Given the description of an element on the screen output the (x, y) to click on. 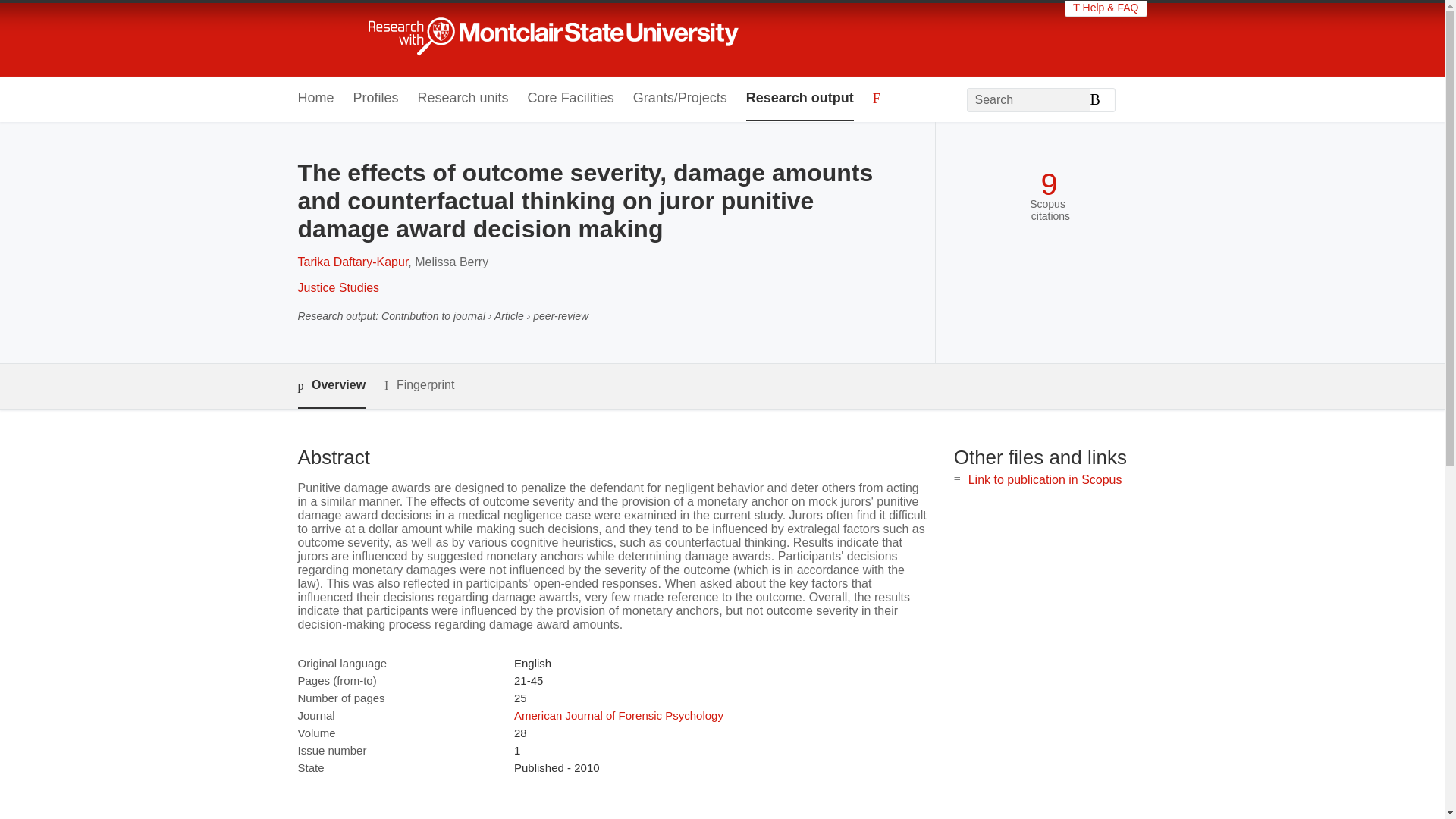
Profiles (375, 98)
Tarika Daftary-Kapur (352, 261)
Montclair State University Home (567, 38)
Fingerprint (419, 385)
Justice Studies (337, 287)
Core Facilities (570, 98)
Overview (331, 385)
American Journal of Forensic Psychology (618, 715)
Research output (799, 98)
